Given the description of an element on the screen output the (x, y) to click on. 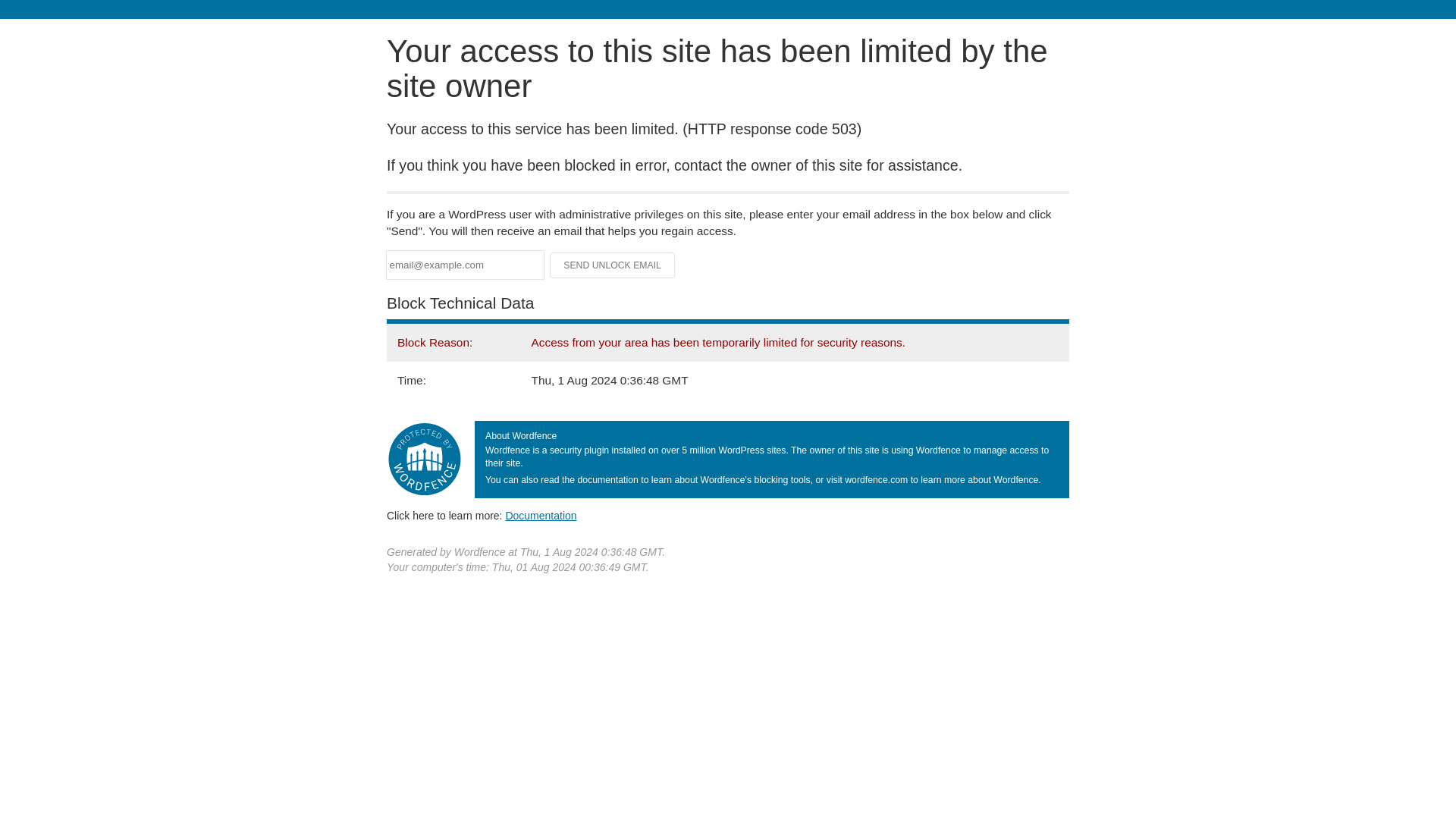
Send Unlock Email (612, 265)
Send Unlock Email (612, 265)
Documentation (540, 515)
